Given the description of an element on the screen output the (x, y) to click on. 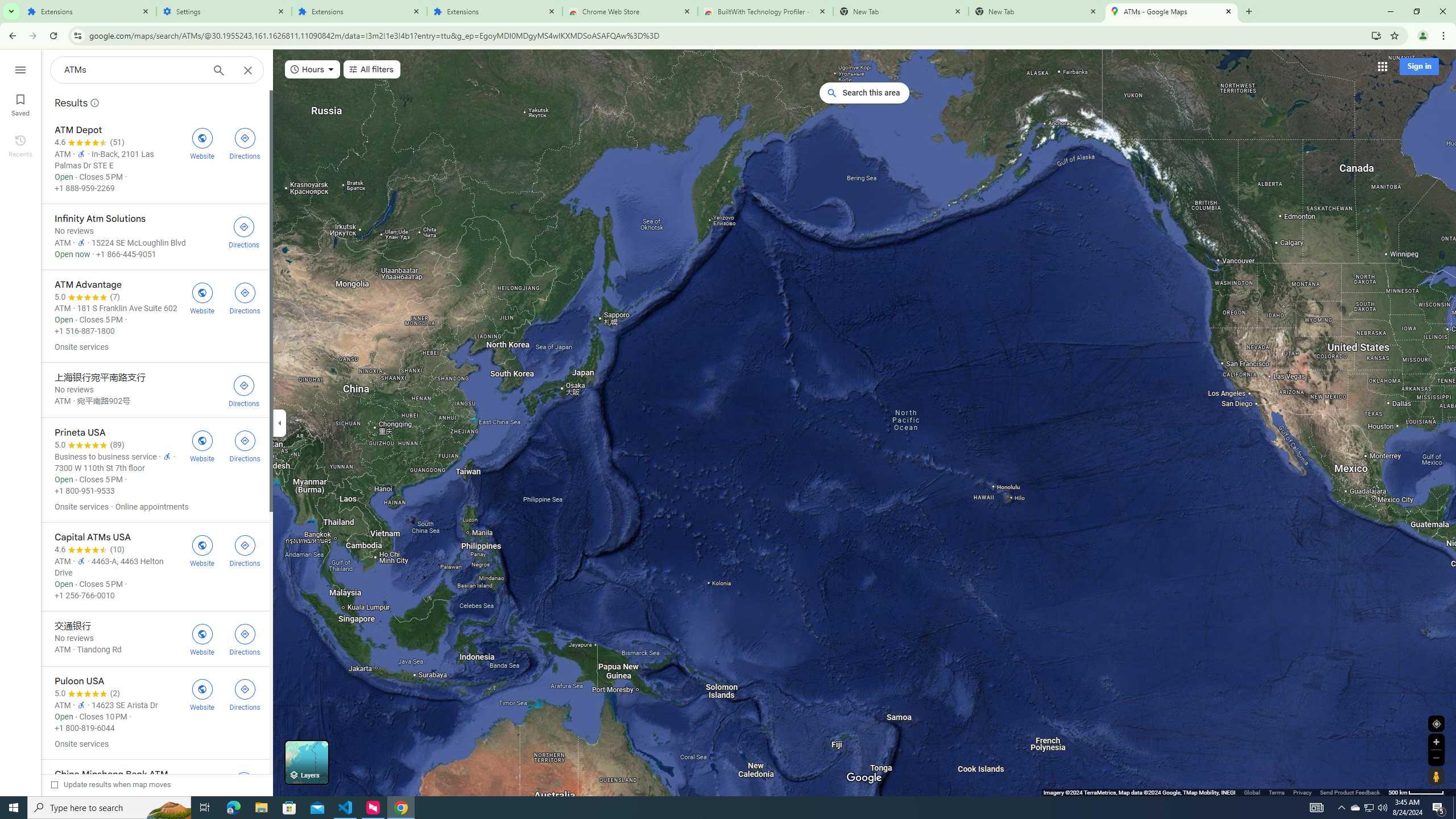
Show Your Location (1436, 723)
Get directions to China Minsheng Bank ATM (243, 787)
Zoom in (1436, 741)
ATM Advantage (154, 315)
Puloon USA (154, 712)
Visit Capital ATMs USA's website (202, 549)
Chrome Web Store (630, 11)
Get directions to Capital ATMs USA (245, 549)
Update results when map moves (110, 784)
